Given the description of an element on the screen output the (x, y) to click on. 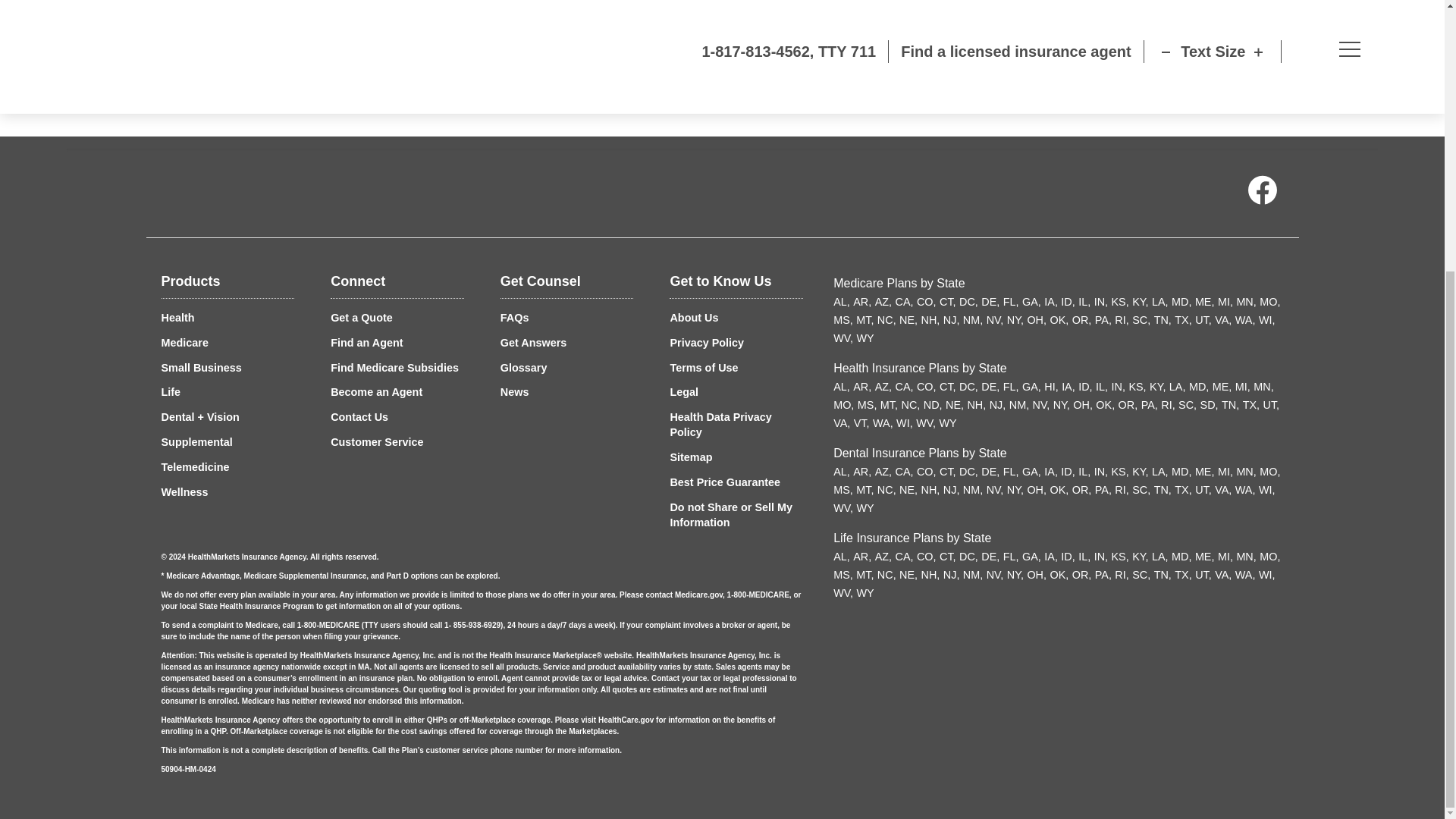
Health (176, 317)
References (326, 50)
Facebook (1261, 192)
Medicare Insurance Plans in District of Columbia (968, 301)
Medicare Insurance Plans in Arkansas (861, 301)
Medicare Insurance Plans in Colorado (926, 301)
Medicare Insurance Plans in Iowa (1050, 301)
Medicare Insurance Plans in Arizona (883, 301)
Medicare Insurance Plans in Kansas (1120, 301)
Medicare Insurance Plans in Idaho (1067, 301)
